Given the description of an element on the screen output the (x, y) to click on. 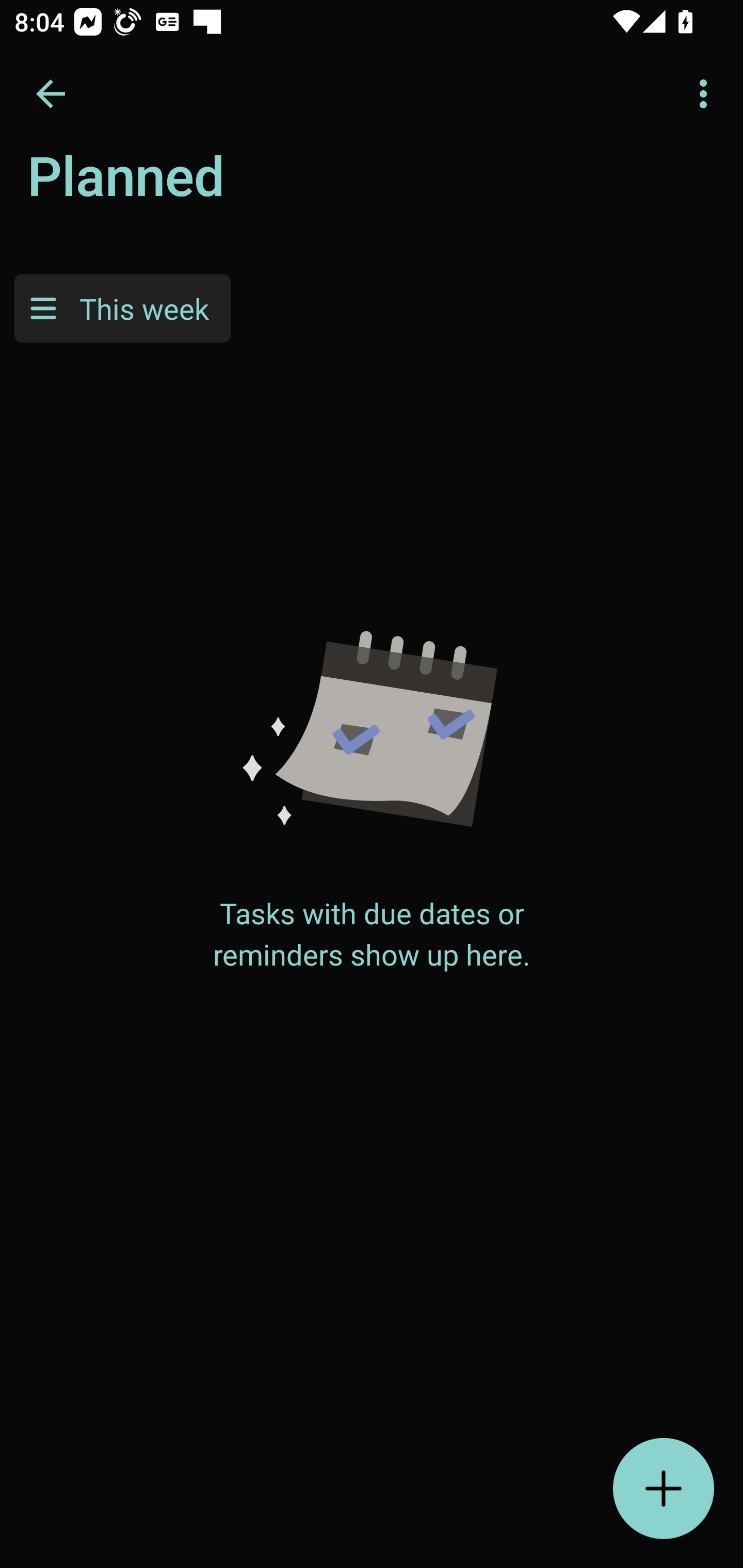
Back (50, 93)
More options (706, 93)
My Day, 0 tasks (182, 187)
This week view selected (122, 307)
Add a task (663, 1488)
